Given the description of an element on the screen output the (x, y) to click on. 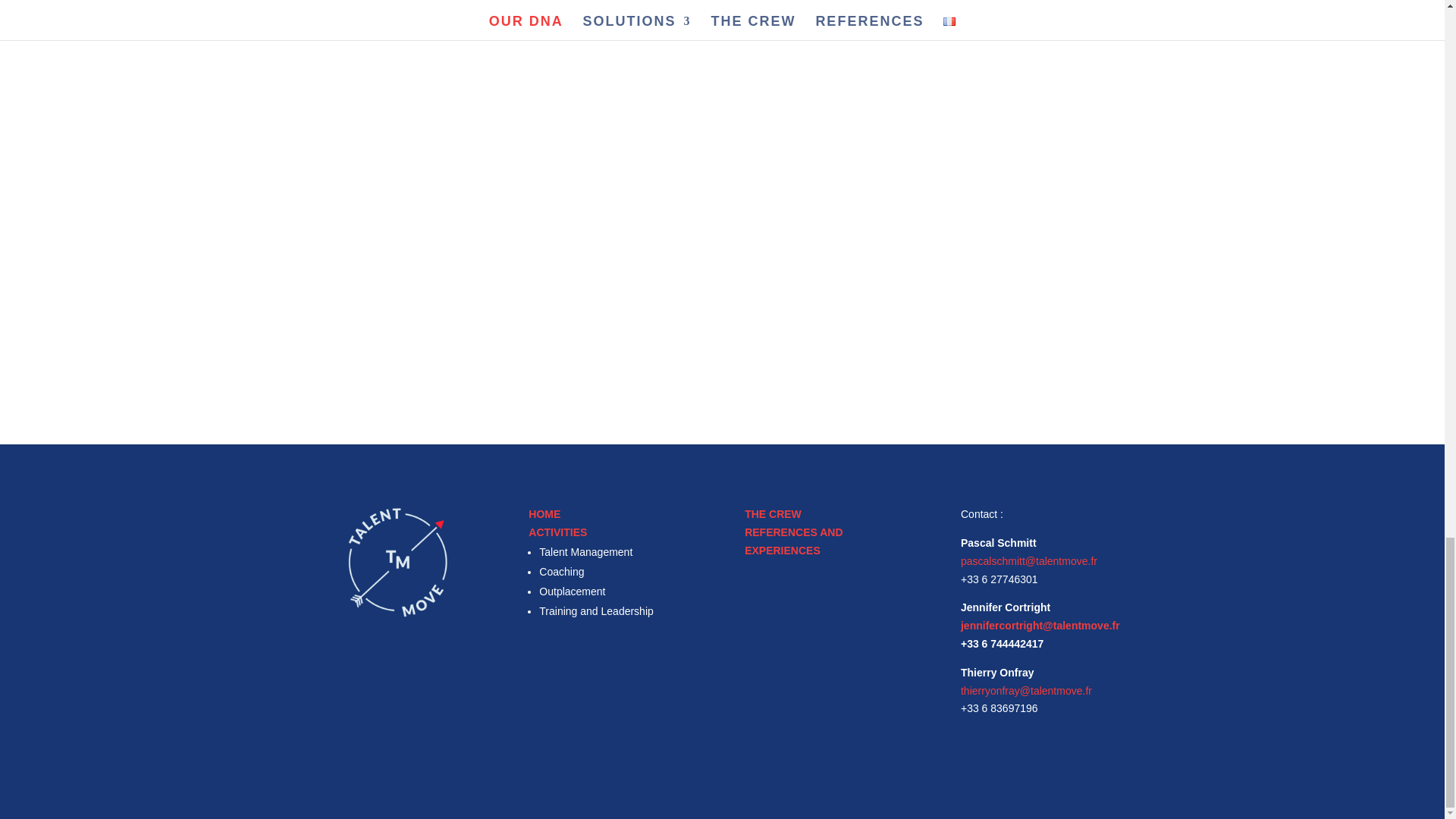
Logo clair (397, 562)
ACTIVITIES (557, 532)
HOME (544, 513)
THE CREW (773, 513)
REFERENCES AND EXPERIENCES (793, 541)
